Given the description of an element on the screen output the (x, y) to click on. 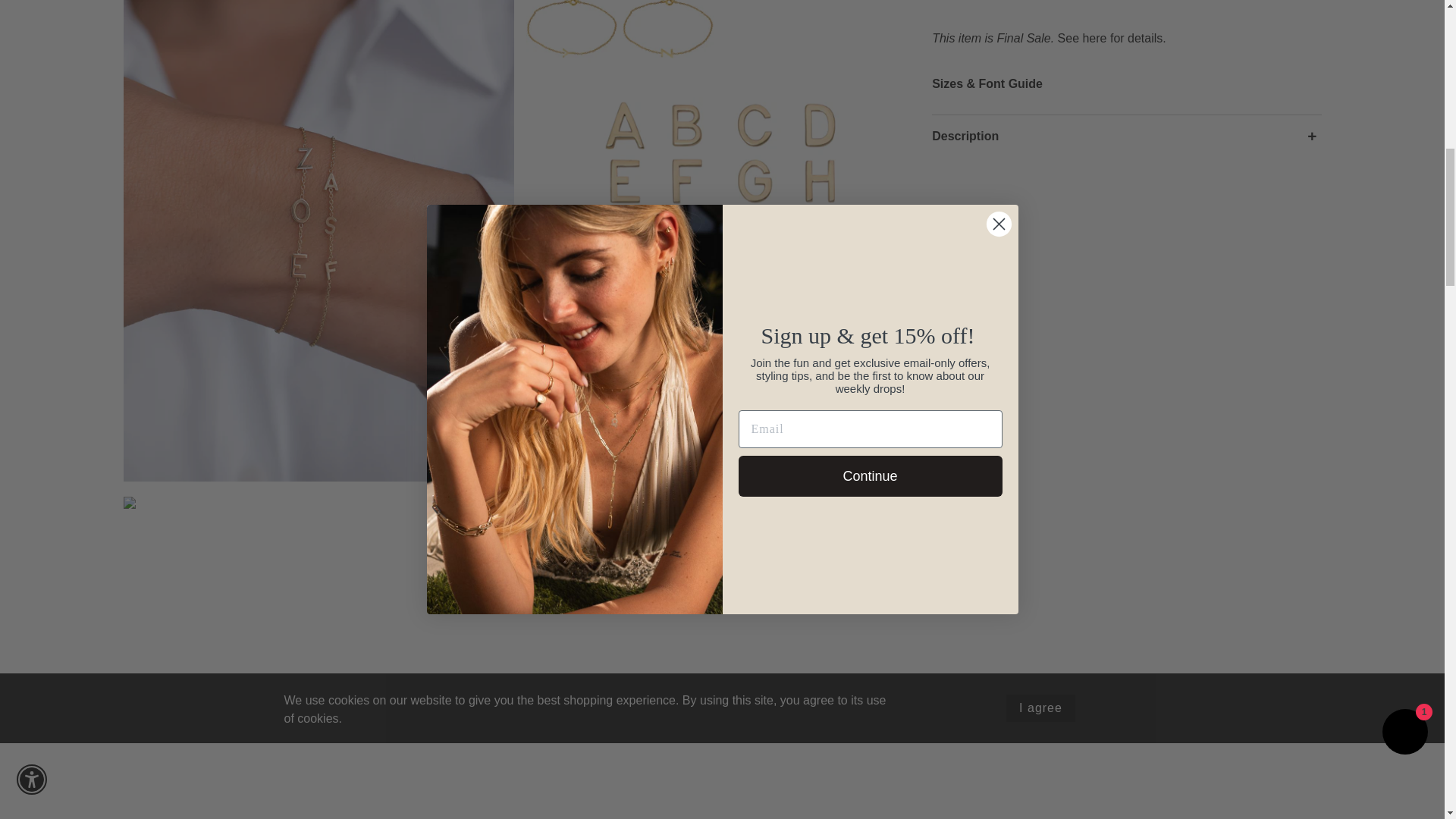
14k Gold Initial Bracelet (317, 657)
Bracelet Samples  (721, 40)
14k Gold Initial Bracelet (721, 660)
